Given the description of an element on the screen output the (x, y) to click on. 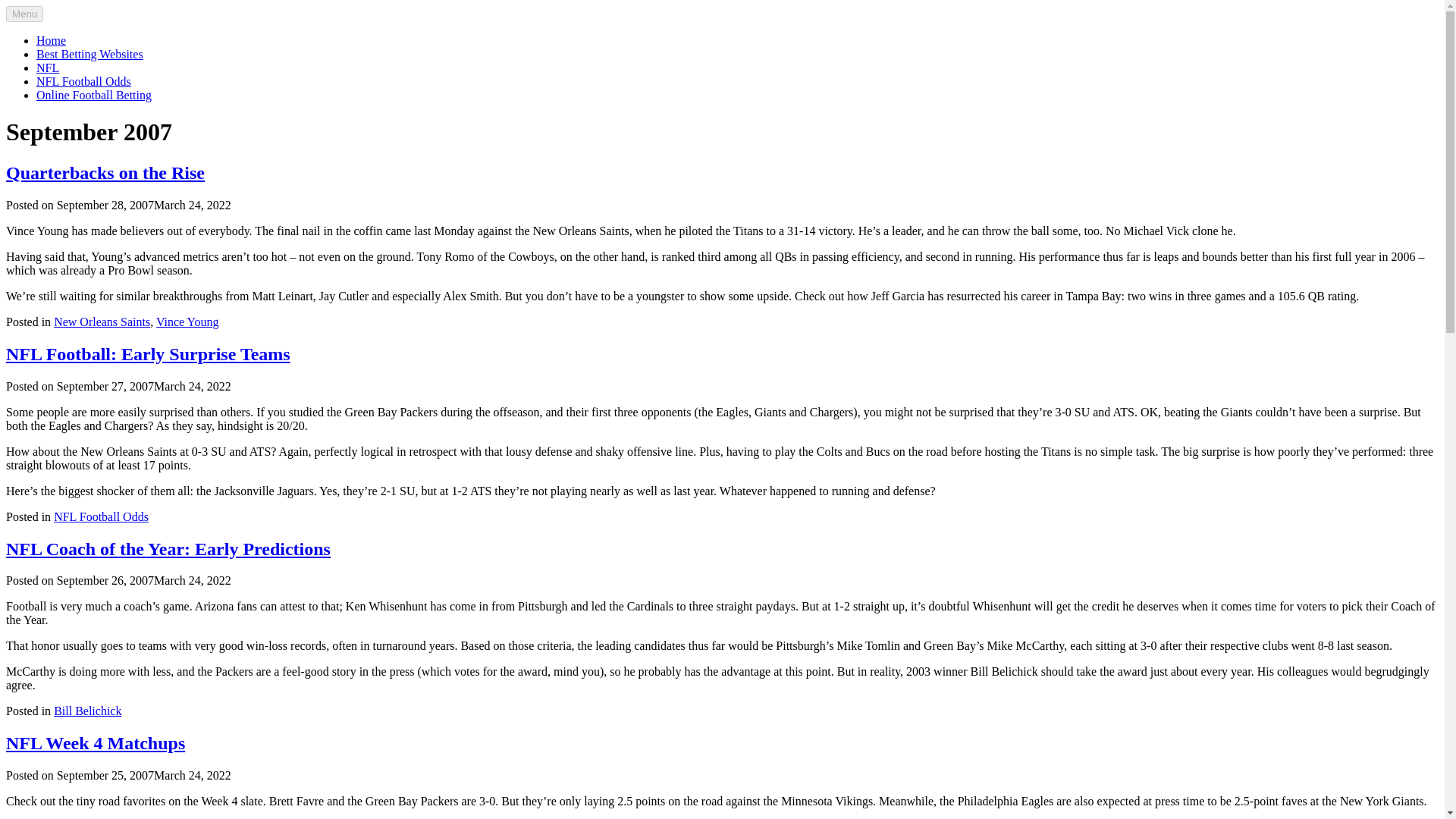
NFL Week 4 Matchups (94, 742)
NFL (47, 67)
NFL Football: Early Surprise Teams (147, 353)
Vince Young (187, 321)
NFL Coach of the Year: Early Predictions (167, 547)
NFL Football Odds (83, 81)
Bill Belichick (86, 710)
New Orleans Saints (101, 321)
Menu (24, 13)
Best Betting Websites (89, 53)
